Given the description of an element on the screen output the (x, y) to click on. 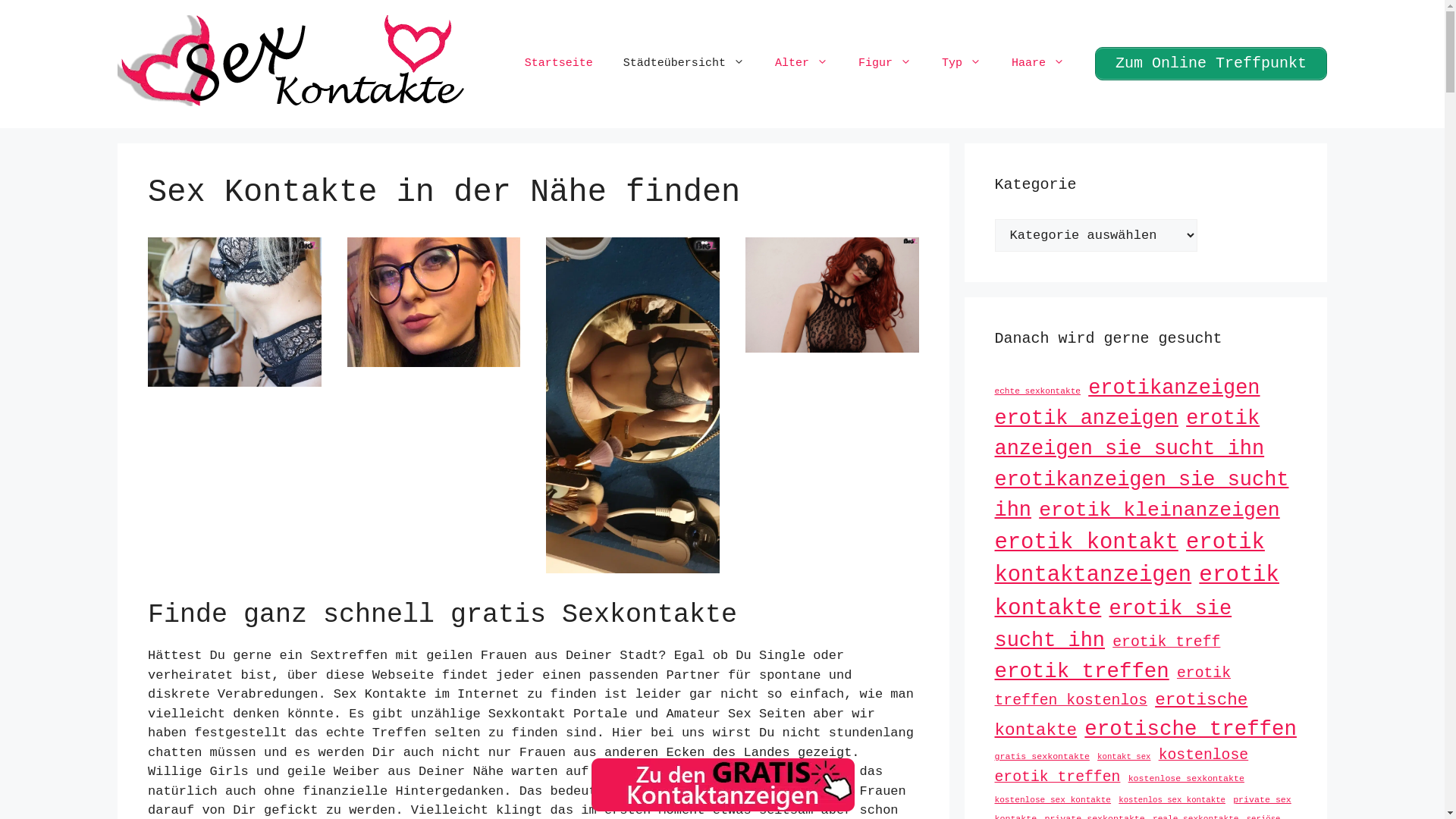
erotik sie sucht ihn Element type: text (1113, 624)
Startseite Element type: text (558, 63)
erotik anzeigen Element type: text (1086, 418)
Typ Element type: text (961, 63)
erotik treff Element type: text (1166, 641)
erotische treffen Element type: text (1190, 728)
erotik anzeigen sie sucht ihn Element type: text (1129, 433)
kostenlose sexkontakte Element type: text (1186, 778)
erotikanzeigen sie sucht ihn Element type: text (1141, 494)
kostenlos sex kontakte Element type: text (1171, 799)
erotische kontakte Element type: text (1121, 715)
Scharfe Schlampe braucht Sex Treffen Element type: hover (234, 377)
erotik treffen Element type: text (1081, 671)
Alter Element type: text (801, 63)
kostenlose erotik treffen Element type: text (1121, 766)
echte sexkontakte Element type: text (1037, 390)
erotik kontakt Element type: text (1086, 542)
gratis sexkontakte Element type: text (1041, 756)
erotikanzeigen Element type: text (1173, 387)
Zum Online Treffpunkt Element type: text (1211, 63)
Mini-Luxuspacket Element type: hover (433, 357)
kontakt sex Element type: text (1123, 756)
kostenlose sex kontakte Element type: text (1052, 799)
erotik kontaktanzeigen Element type: text (1129, 558)
erotik kleinanzeigen Element type: text (1159, 509)
Figur Element type: text (884, 63)
Haare Element type: text (1037, 63)
erotik kontakte Element type: text (1136, 591)
erotik treffen kostenlos Element type: text (1112, 686)
Sex Dates mit willigen Girls Element type: hover (632, 563)
